Given the description of an element on the screen output the (x, y) to click on. 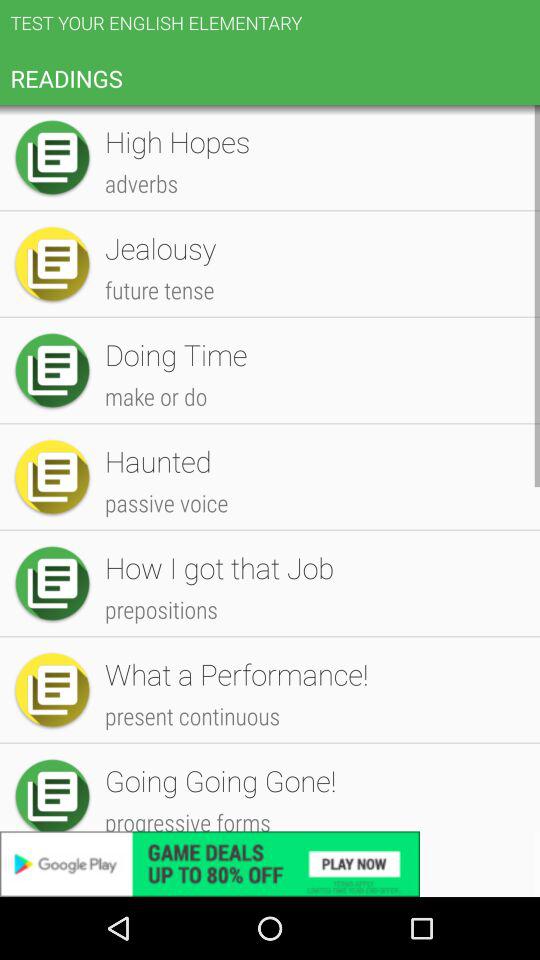
choose icon above the scores app (311, 384)
